Given the description of an element on the screen output the (x, y) to click on. 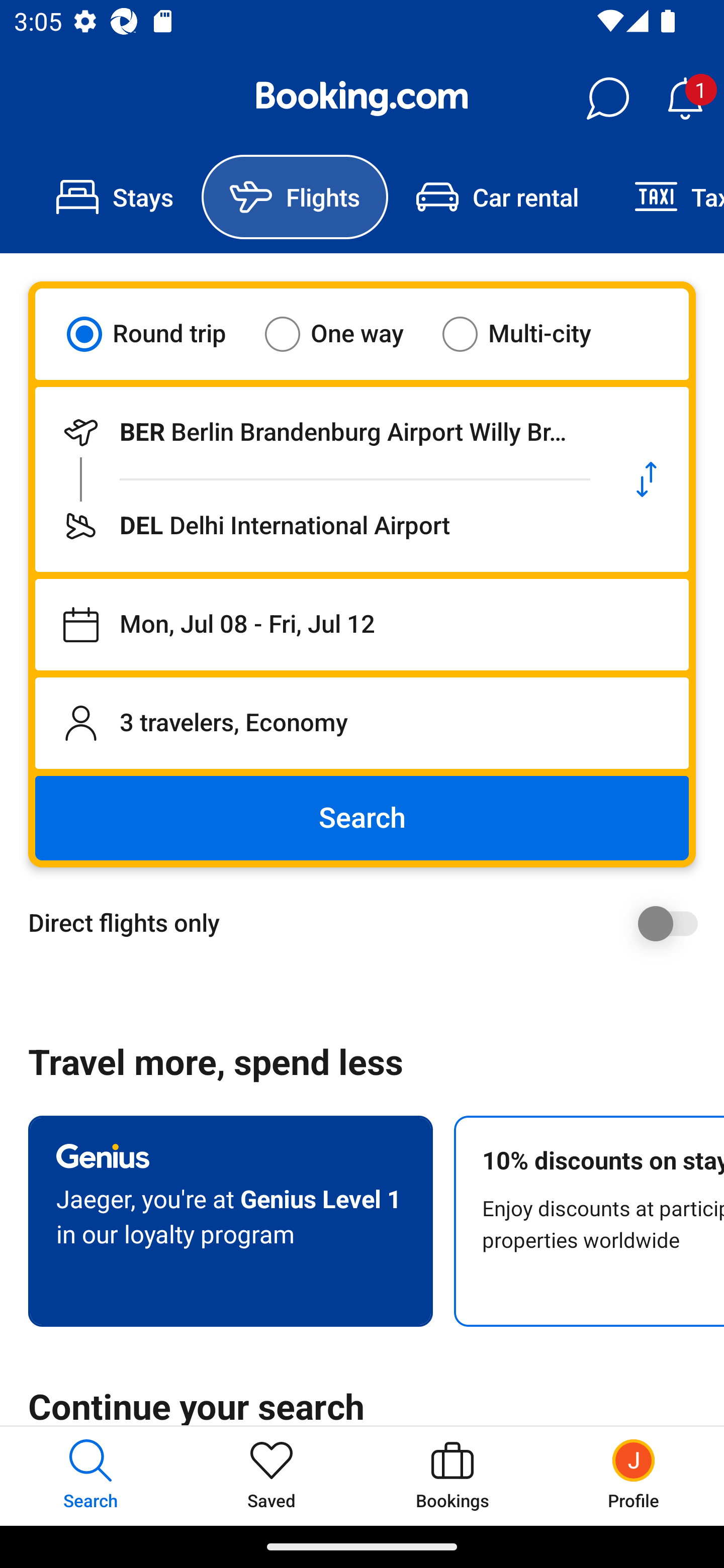
Messages (607, 98)
Notifications (685, 98)
Stays (114, 197)
Flights (294, 197)
Car rental (497, 197)
Taxi (665, 197)
One way (346, 333)
Multi-city (528, 333)
Swap departure location and destination (646, 479)
Flying to DEL Delhi International Airport (319, 525)
Departing on Mon, Jul 08, returning on Fri, Jul 12 (361, 624)
3 travelers, Economy (361, 722)
Search (361, 818)
Direct flights only (369, 923)
Saved (271, 1475)
Bookings (452, 1475)
Profile (633, 1475)
